Given the description of an element on the screen output the (x, y) to click on. 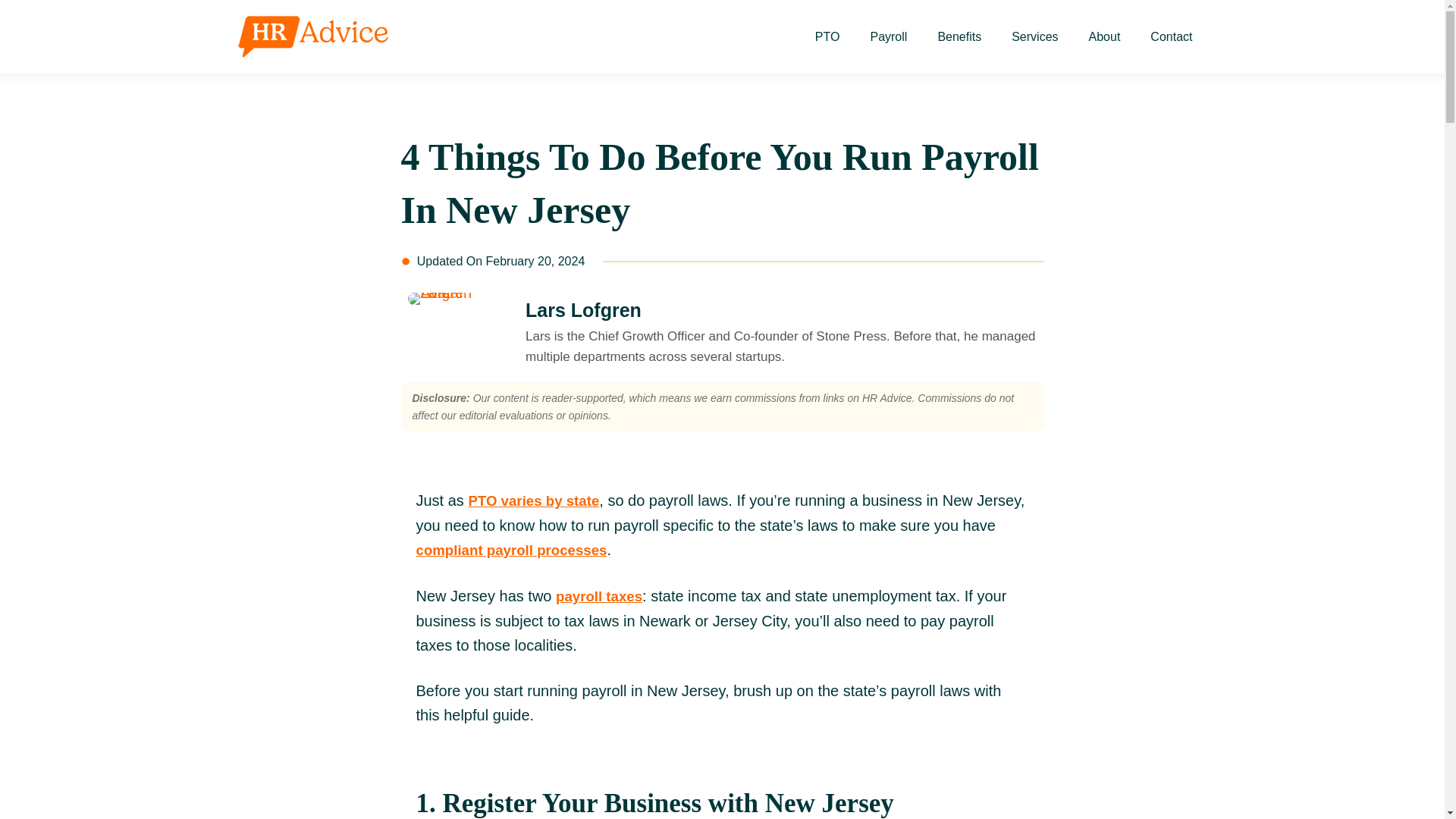
Services (1034, 36)
PTO varies by state (532, 500)
Benefits (958, 36)
Payroll (887, 36)
Contact (1171, 36)
compliant payroll processes (510, 549)
payroll taxes (599, 596)
